Given the description of an element on the screen output the (x, y) to click on. 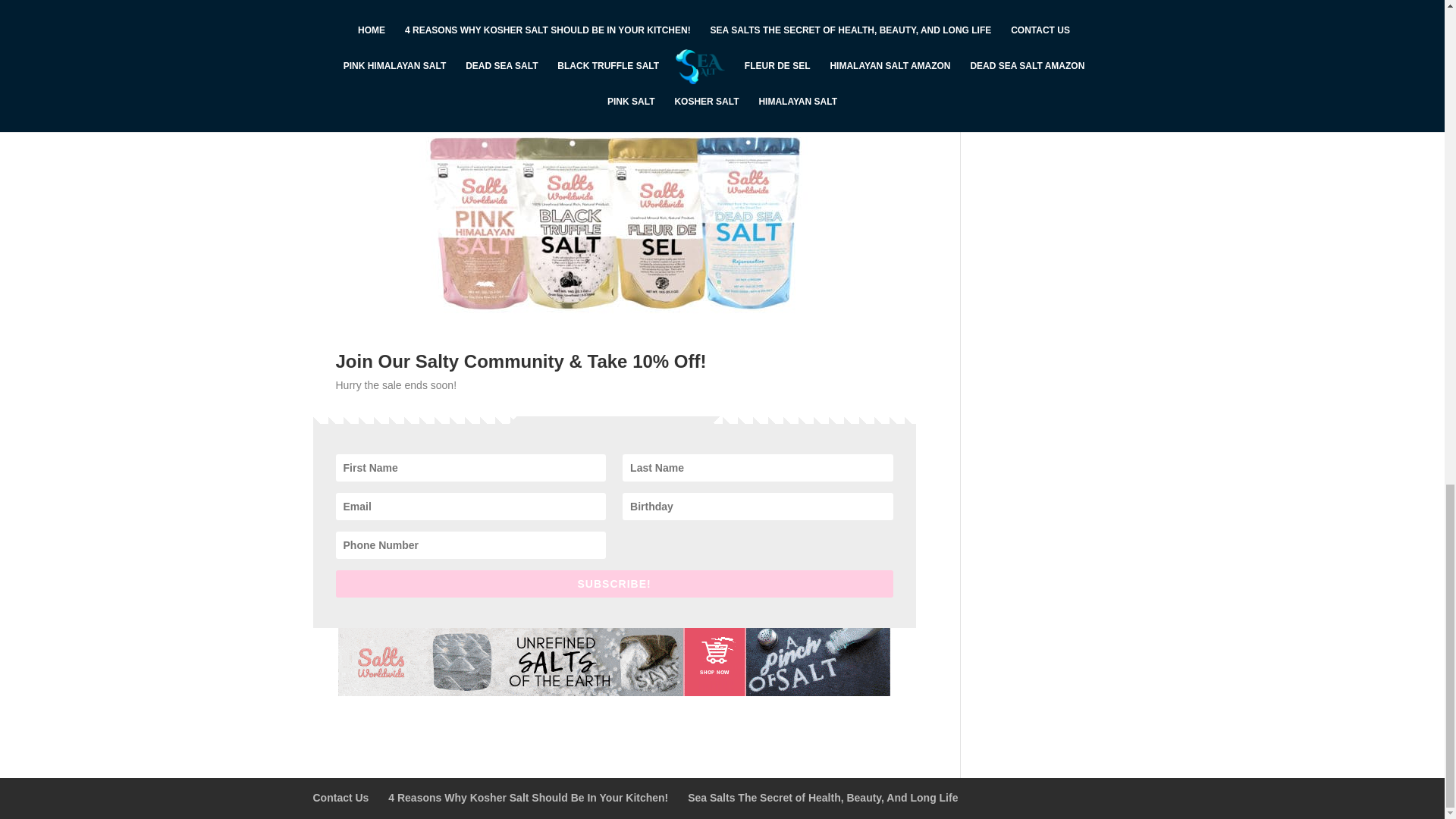
Sea Salts The Secret of Health, Beauty, And Long Life (822, 797)
Contact Us (340, 797)
SUBSCRIBE! (613, 583)
4 Reasons Why Kosher Salt Should Be In Your Kitchen! (528, 797)
